Given the description of an element on the screen output the (x, y) to click on. 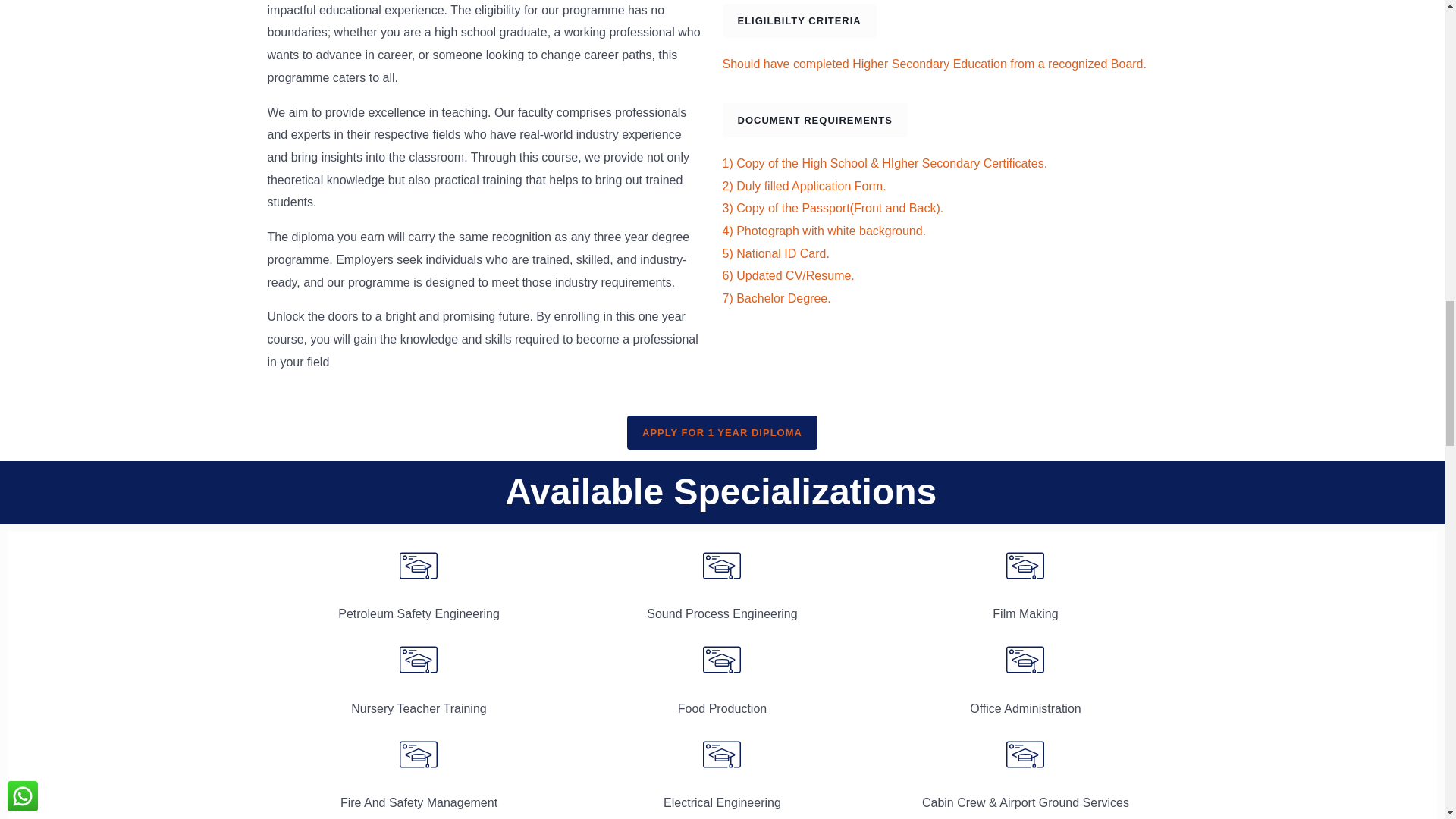
DOCUMENT REQUIREMENTS (814, 120)
ELIGILBILTY CRITERIA (799, 20)
APPLY FOR 1 YEAR DIPLOMA (721, 432)
